Given the description of an element on the screen output the (x, y) to click on. 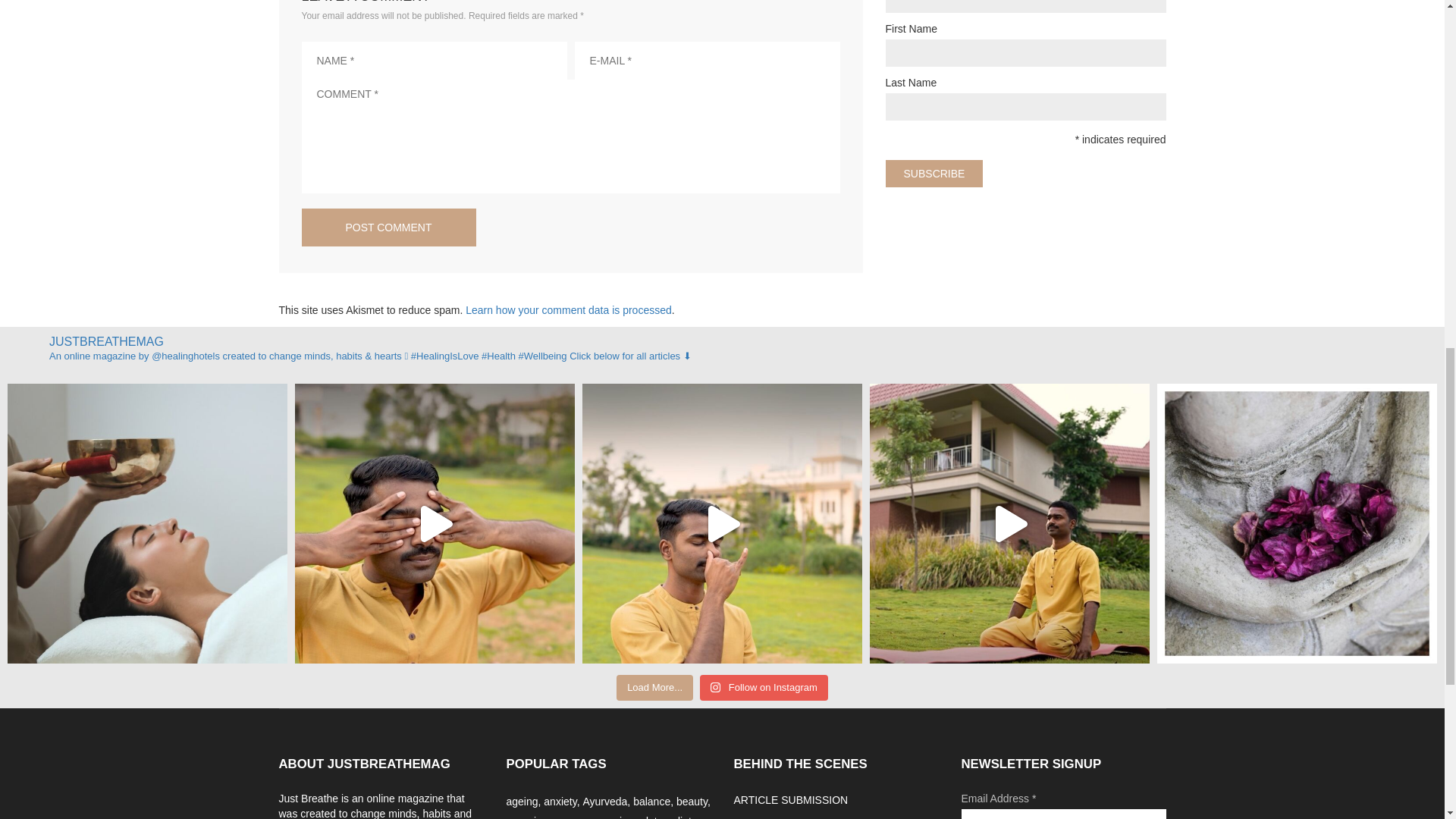
Post comment (388, 227)
